Given the description of an element on the screen output the (x, y) to click on. 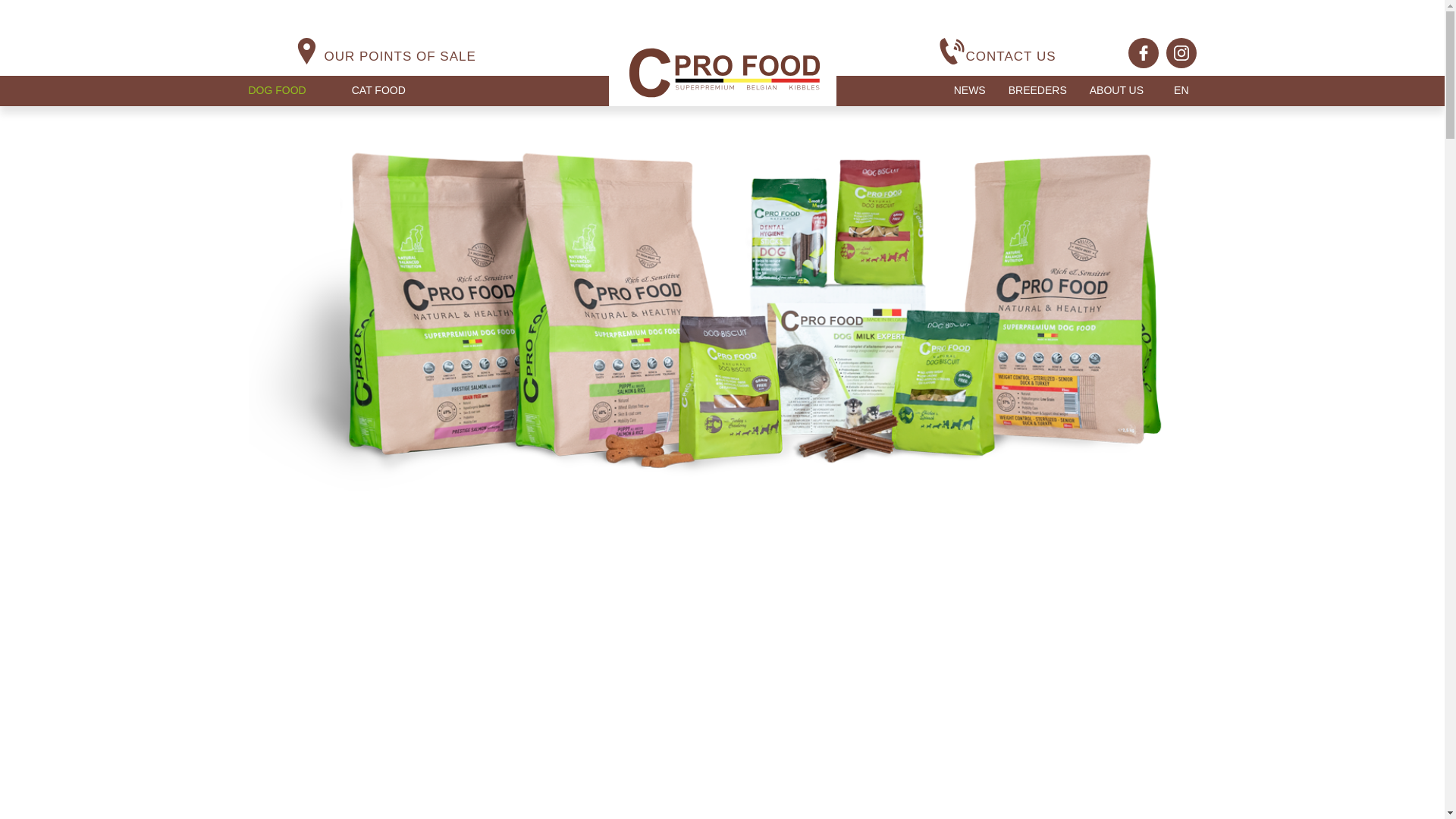
CONTACT US (1011, 56)
EN (1180, 89)
CAT FOOD (379, 90)
OUR POINTS OF SALE (400, 56)
BREEDERS (1038, 90)
NEWS (969, 90)
DOG FOOD (276, 90)
ABOUT US (1115, 90)
Ceral (721, 73)
